Given the description of an element on the screen output the (x, y) to click on. 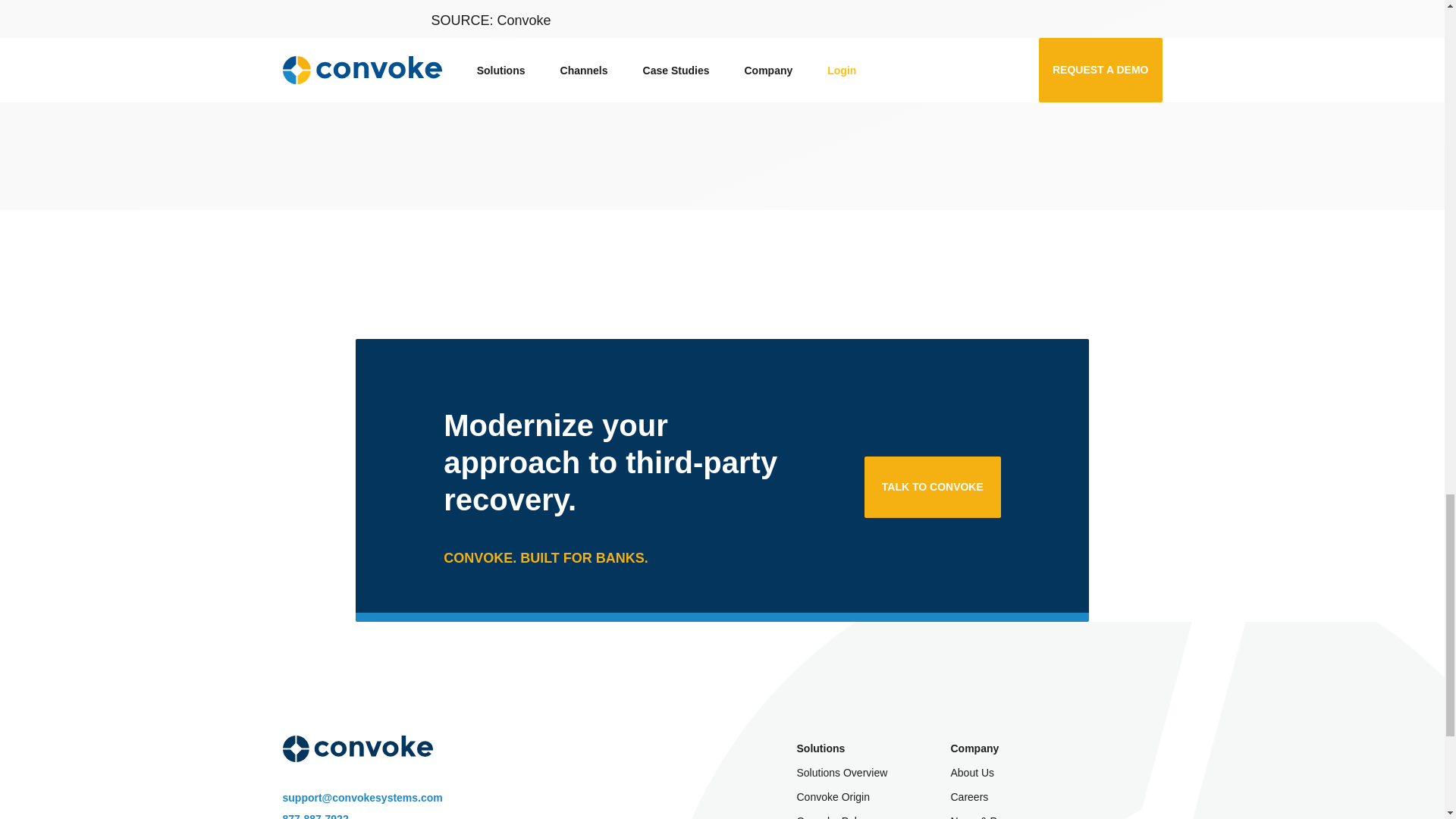
Back to Press Releases (517, 71)
TALK TO CONVOKE (932, 486)
877-887-7922 (362, 816)
